Given the description of an element on the screen output the (x, y) to click on. 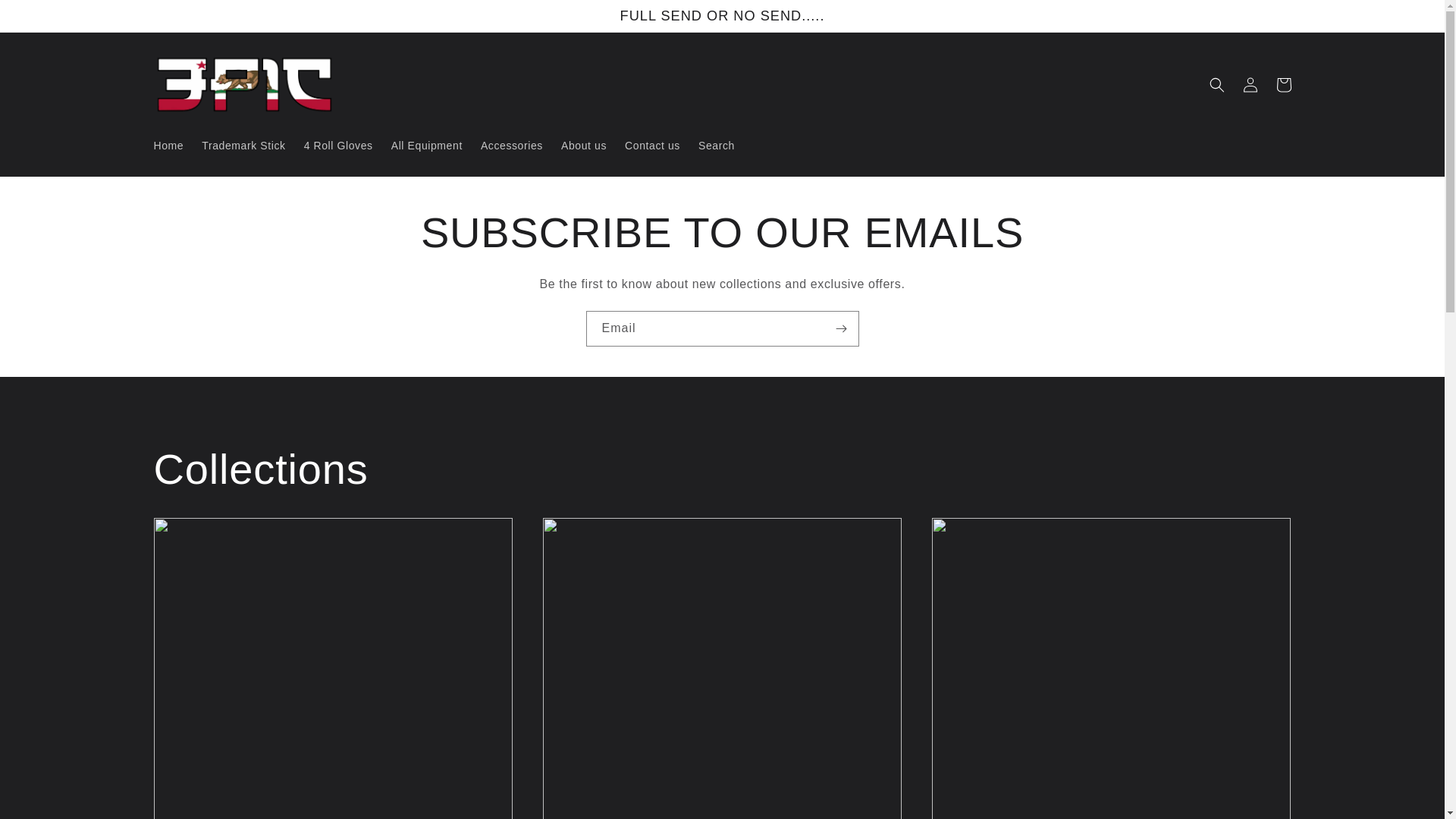
Home Element type: text (168, 145)
Search Element type: text (716, 145)
All Equipment Element type: text (426, 145)
Log in Element type: text (1249, 84)
Contact us Element type: text (652, 145)
Cart Element type: text (1282, 84)
Accessories Element type: text (511, 145)
About us Element type: text (583, 145)
Trademark Stick Element type: text (243, 145)
4 Roll Gloves Element type: text (338, 145)
